Given the description of an element on the screen output the (x, y) to click on. 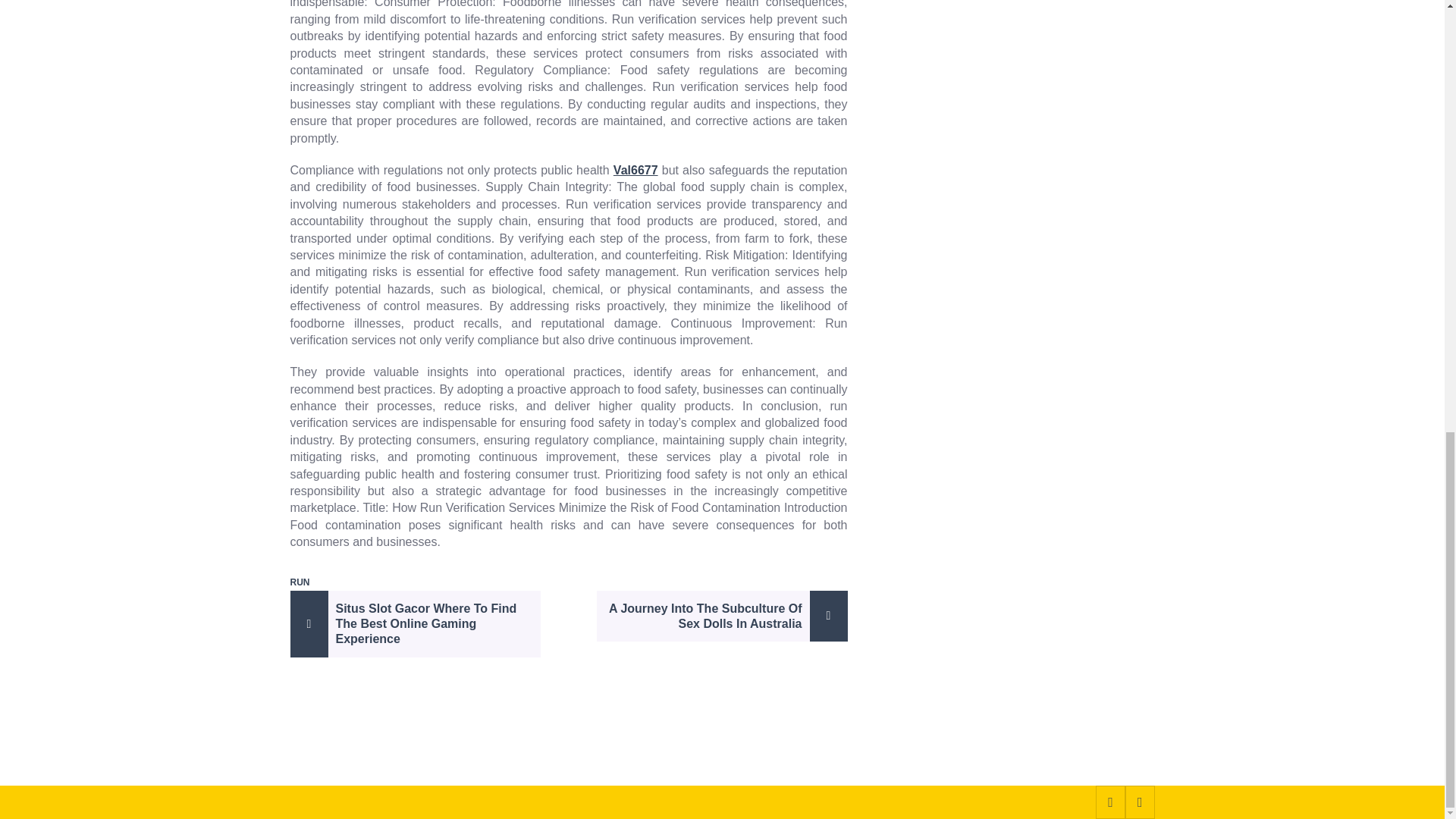
RUN (298, 582)
A Journey Into The Subculture Of Sex Dolls In Australia (721, 616)
Val6677 (635, 169)
